Given the description of an element on the screen output the (x, y) to click on. 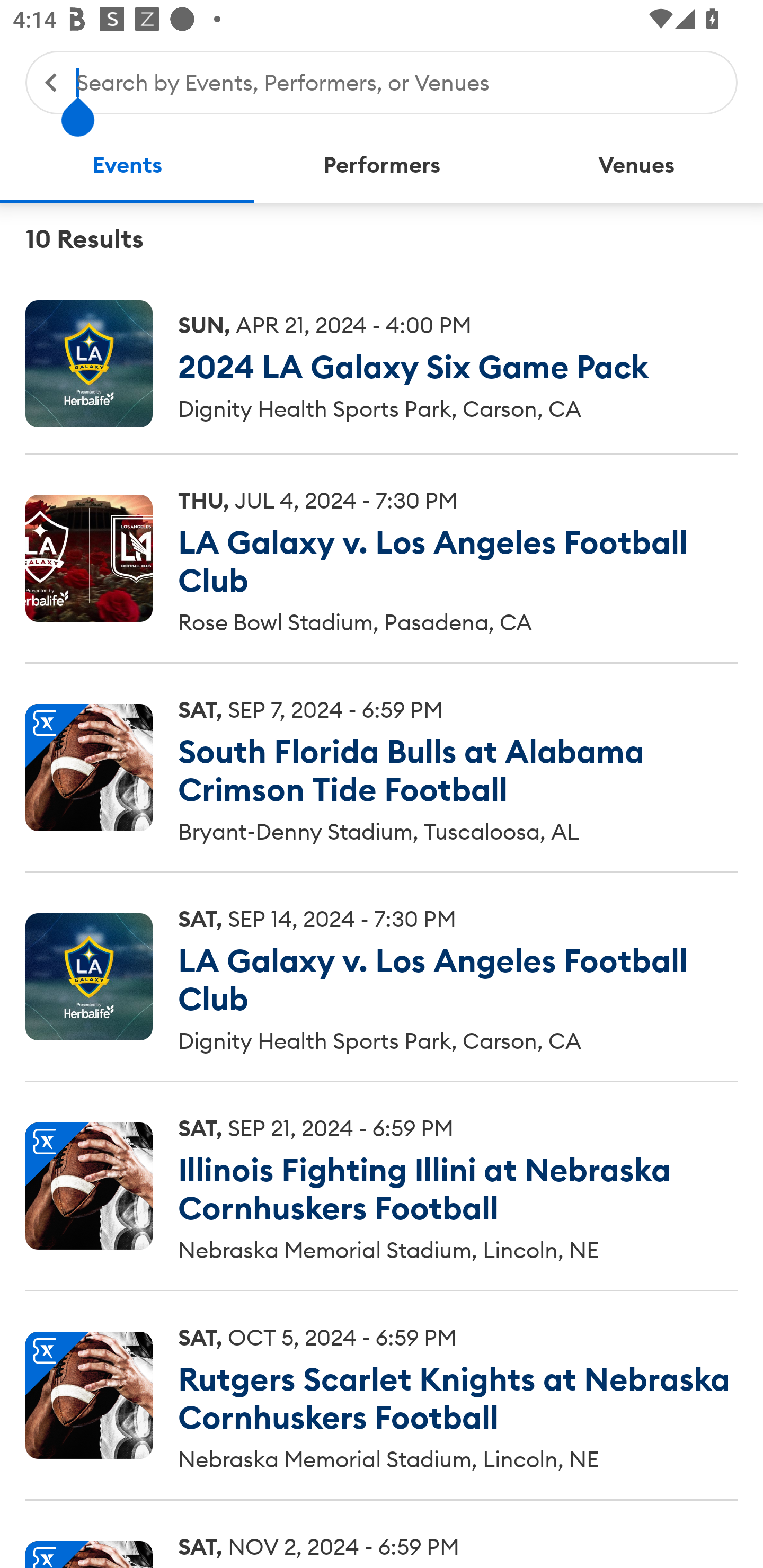
Performers (381, 165)
Venues (635, 165)
